Given the description of an element on the screen output the (x, y) to click on. 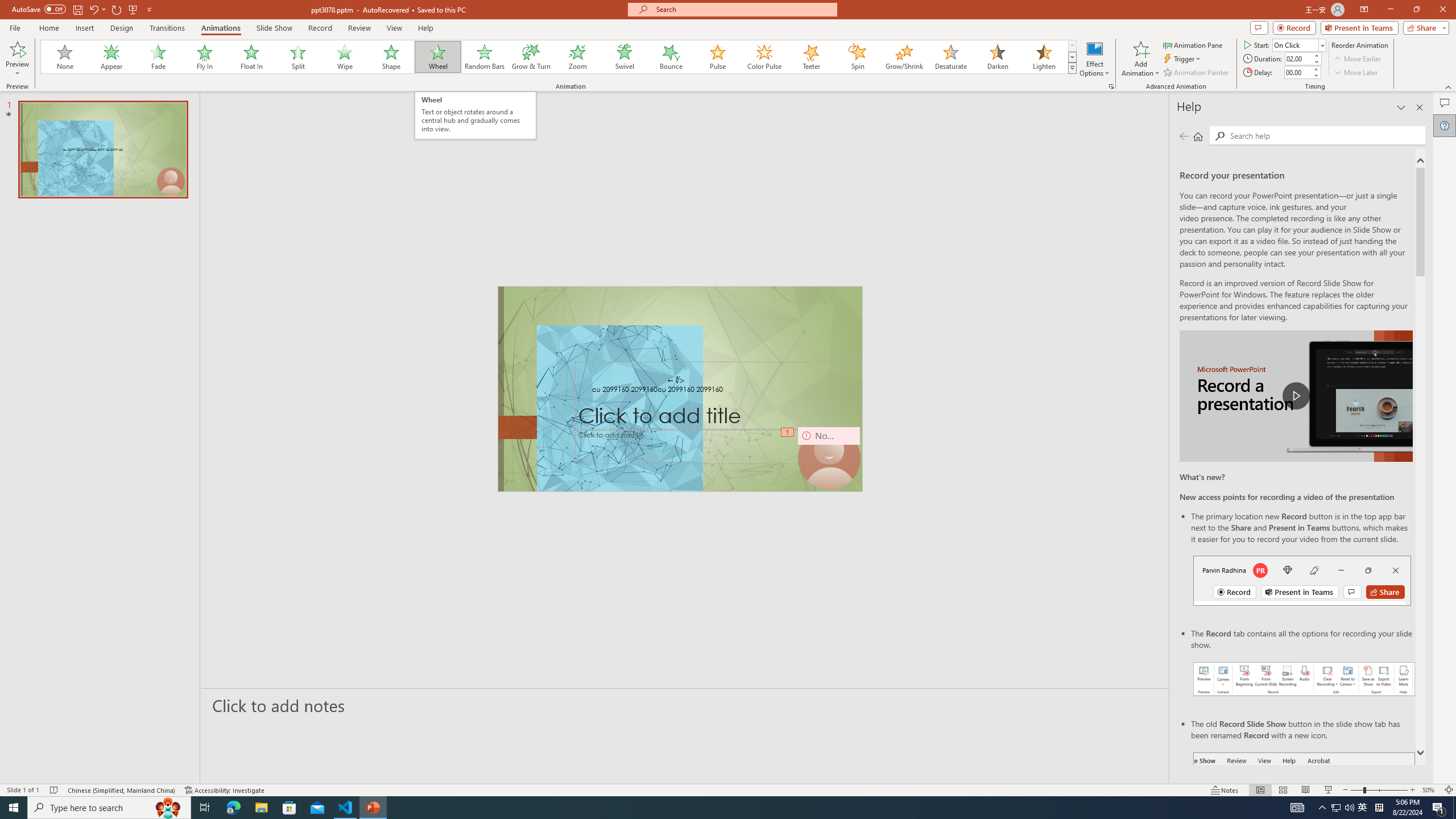
Color Pulse (764, 56)
More Options... (1110, 85)
Trigger (1182, 58)
